Given the description of an element on the screen output the (x, y) to click on. 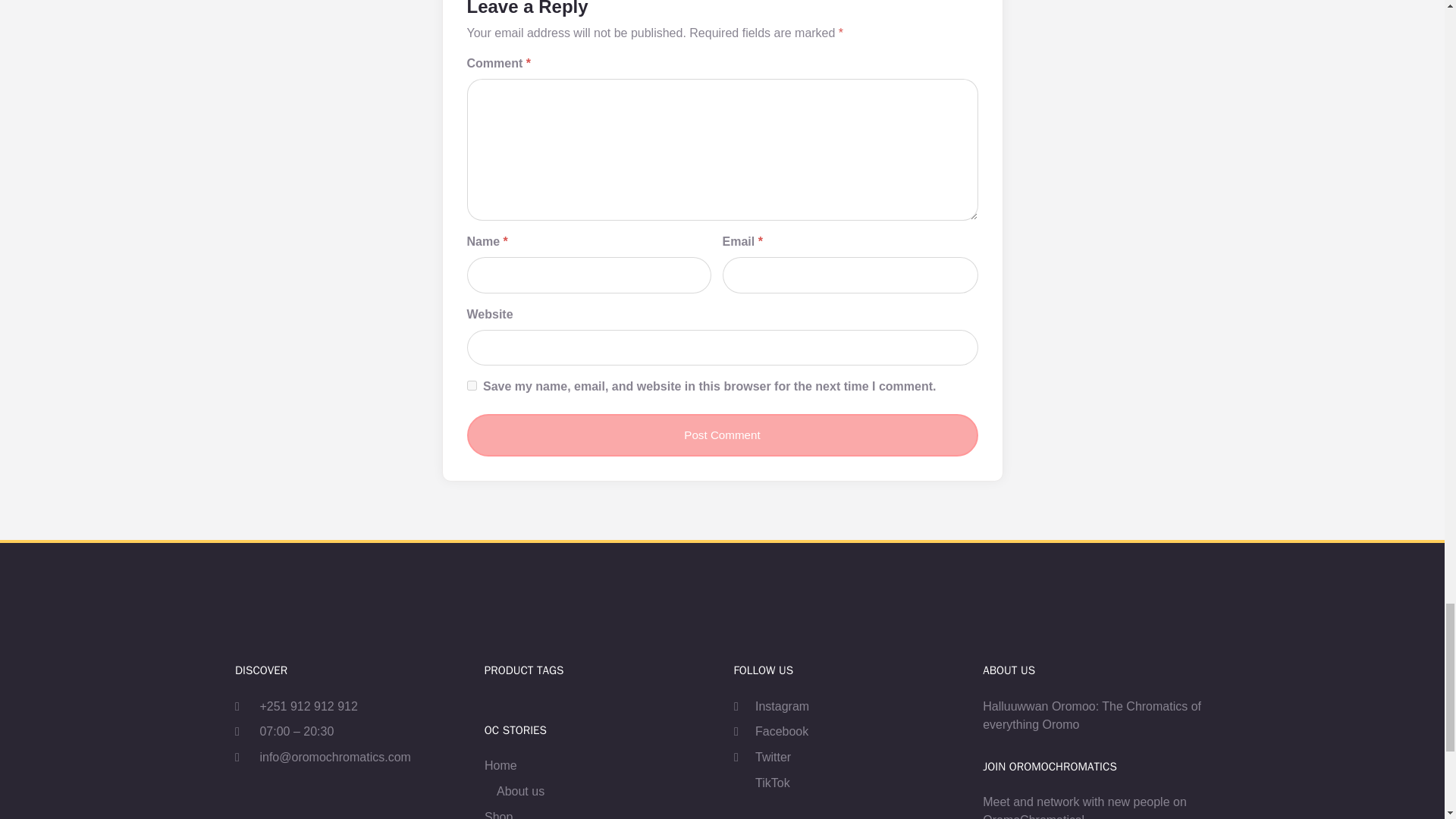
Post Comment (722, 435)
Instagram (771, 706)
Home (500, 765)
Shop (498, 813)
Post Comment (722, 435)
About us (520, 791)
Twitter (761, 757)
Facebook (770, 731)
yes (472, 385)
TikTok (761, 782)
